Given the description of an element on the screen output the (x, y) to click on. 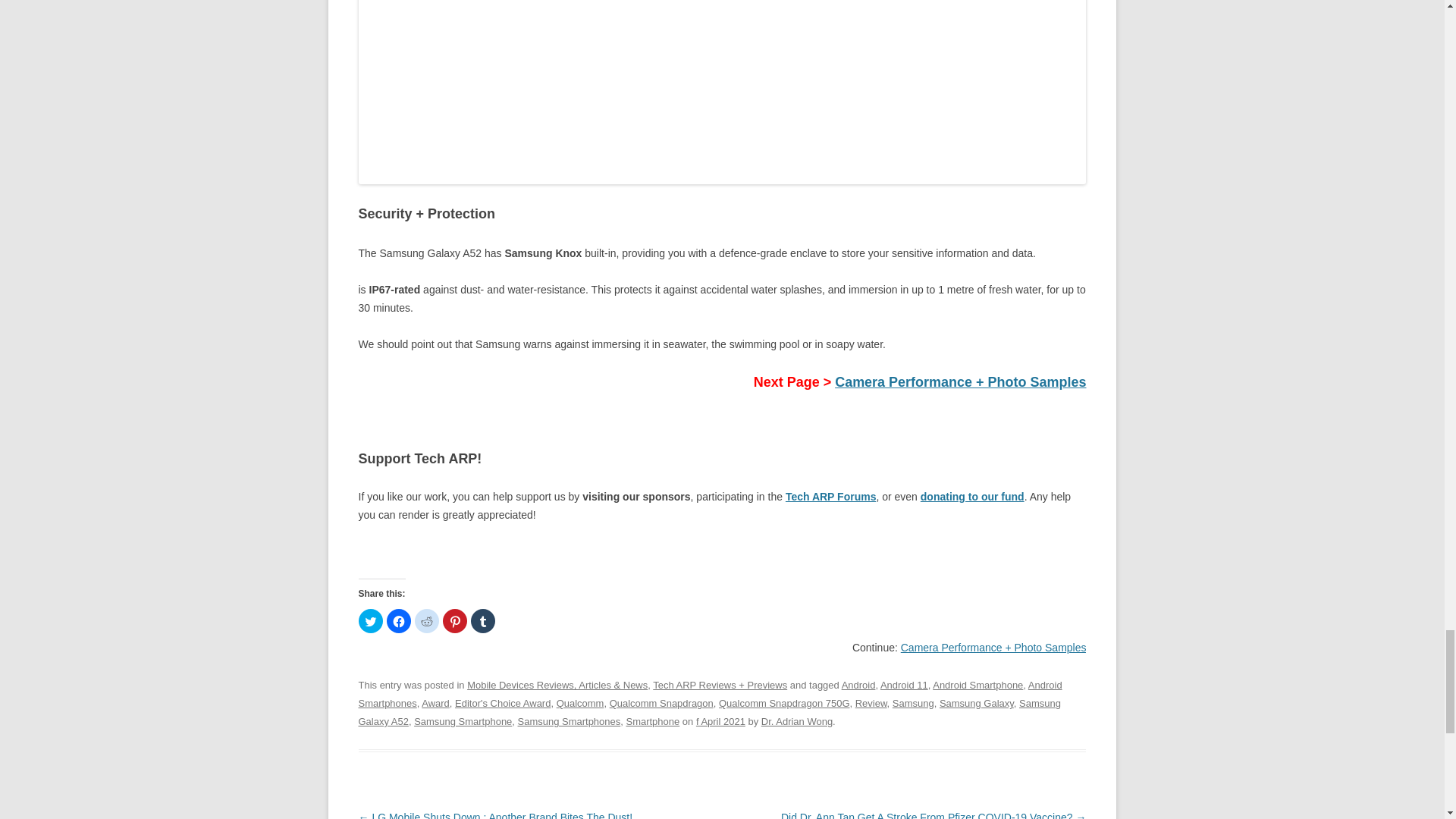
Android Smartphones (709, 694)
Click to share on Facebook (398, 621)
Android Smartphone (978, 685)
Click to share on Tumblr (482, 621)
donating to our fund (972, 496)
Click to share on Twitter (369, 621)
Editor's Choice Award (502, 703)
Award (435, 703)
Android (858, 685)
10:16 pm (720, 721)
